Given the description of an element on the screen output the (x, y) to click on. 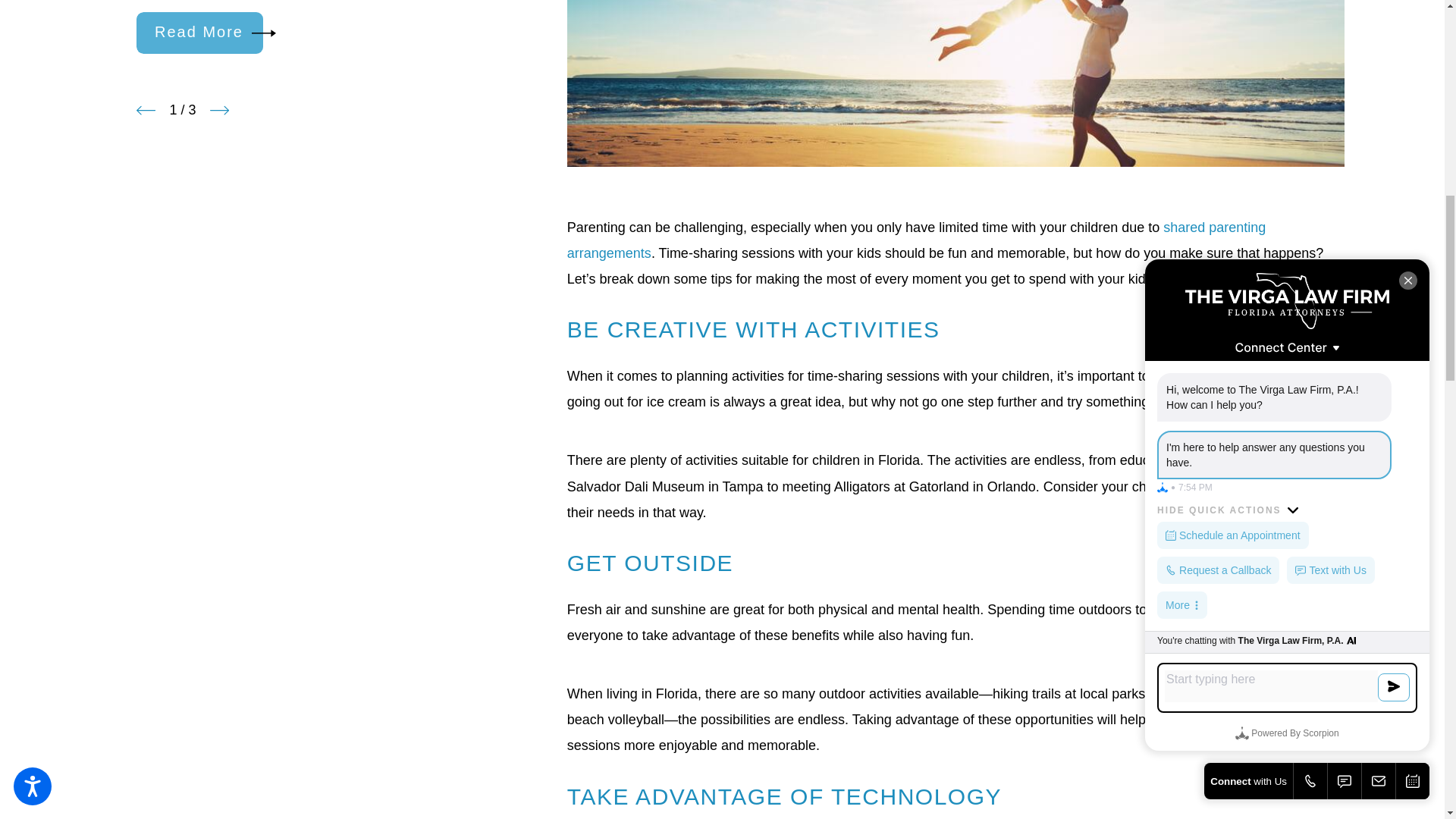
View next item (218, 109)
View previous item (145, 109)
